Given the description of an element on the screen output the (x, y) to click on. 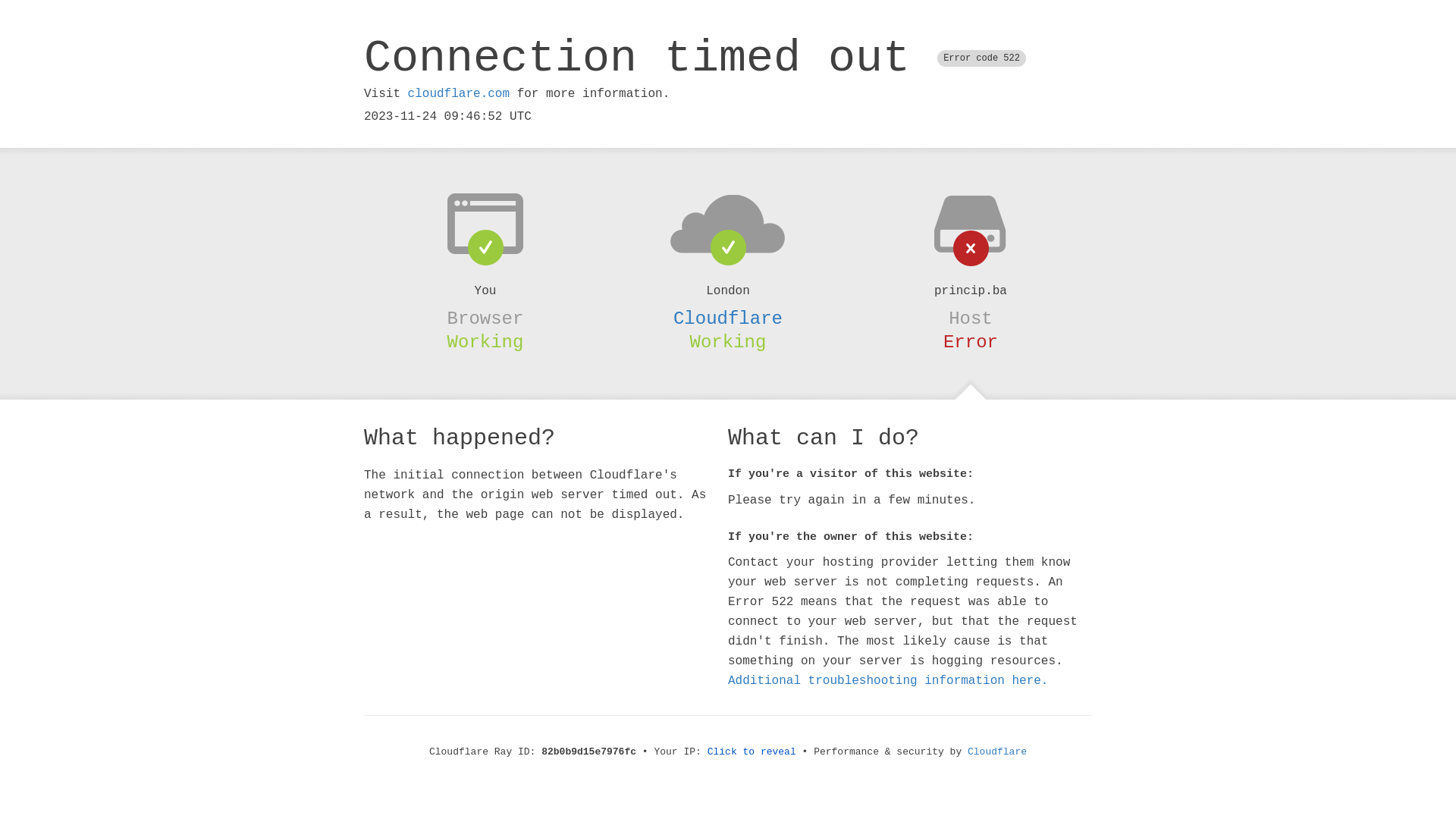
Cloudflare Element type: text (727, 318)
Cloudflare Element type: text (996, 751)
cloudflare.com Element type: text (458, 93)
Click to reveal Element type: text (751, 751)
Additional troubleshooting information here. Element type: text (888, 680)
